Given the description of an element on the screen output the (x, y) to click on. 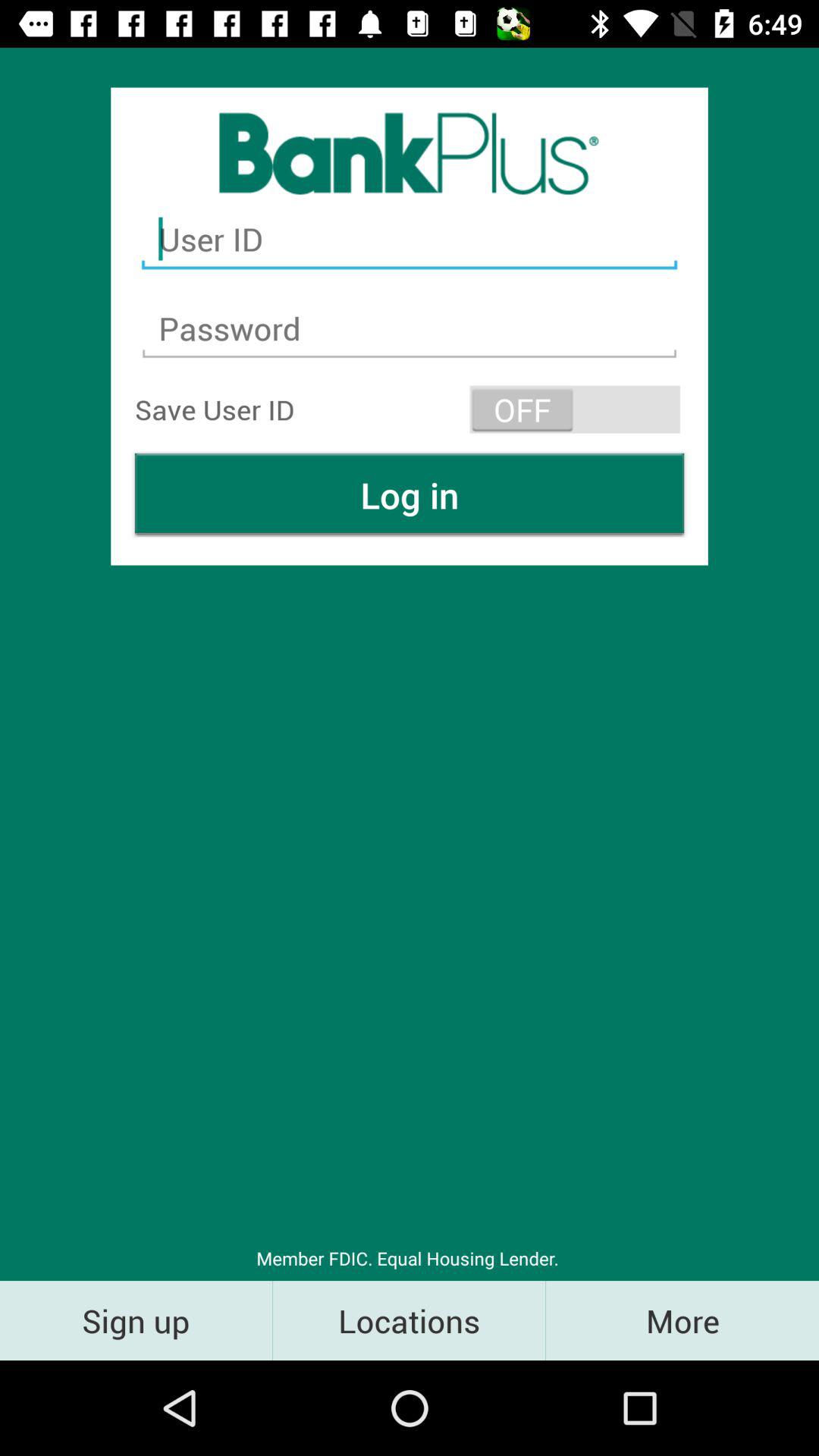
tap the icon at the top right corner (574, 409)
